Given the description of an element on the screen output the (x, y) to click on. 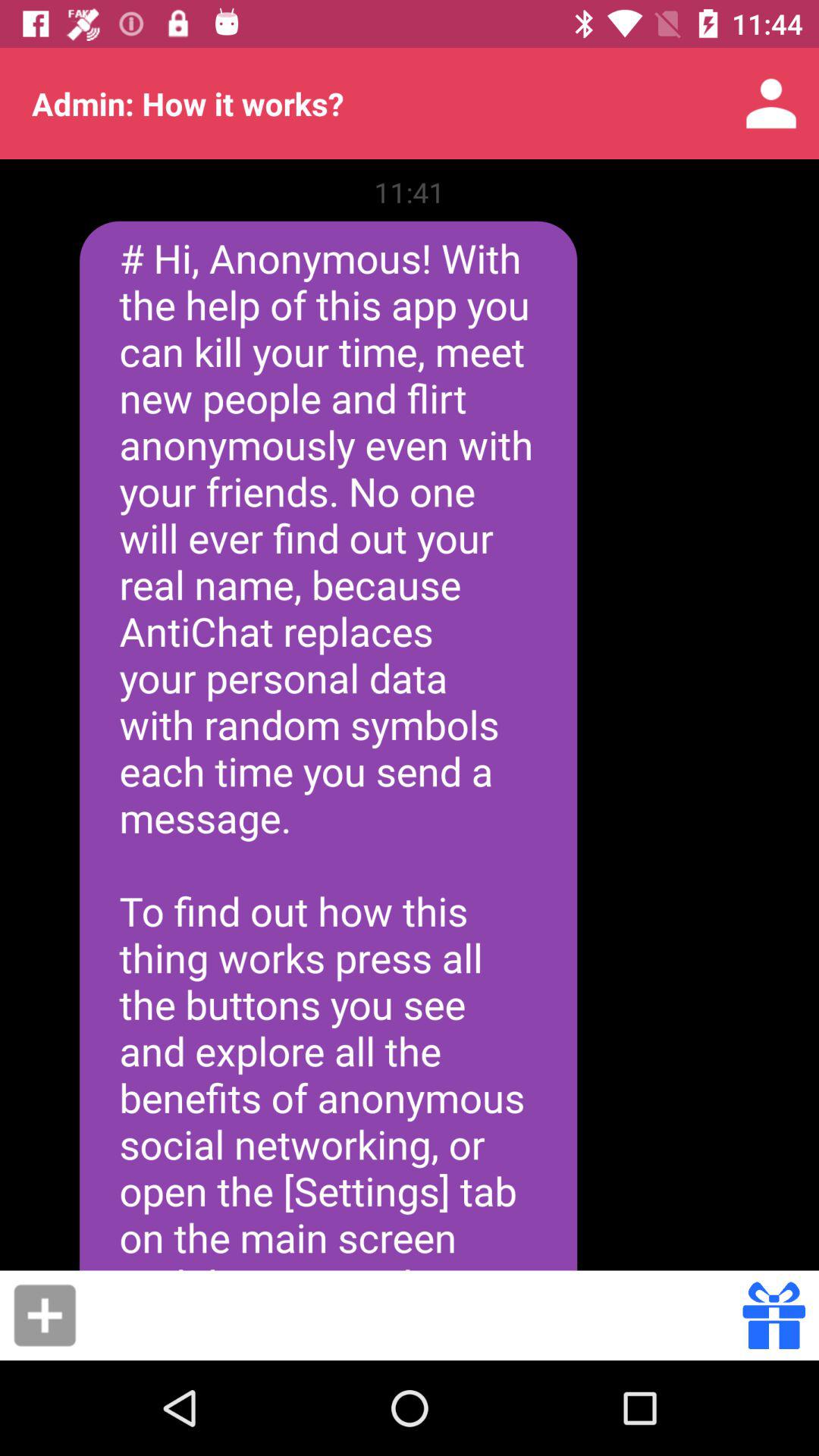
tap the item above the hi anonymous with icon (409, 192)
